Given the description of an element on the screen output the (x, y) to click on. 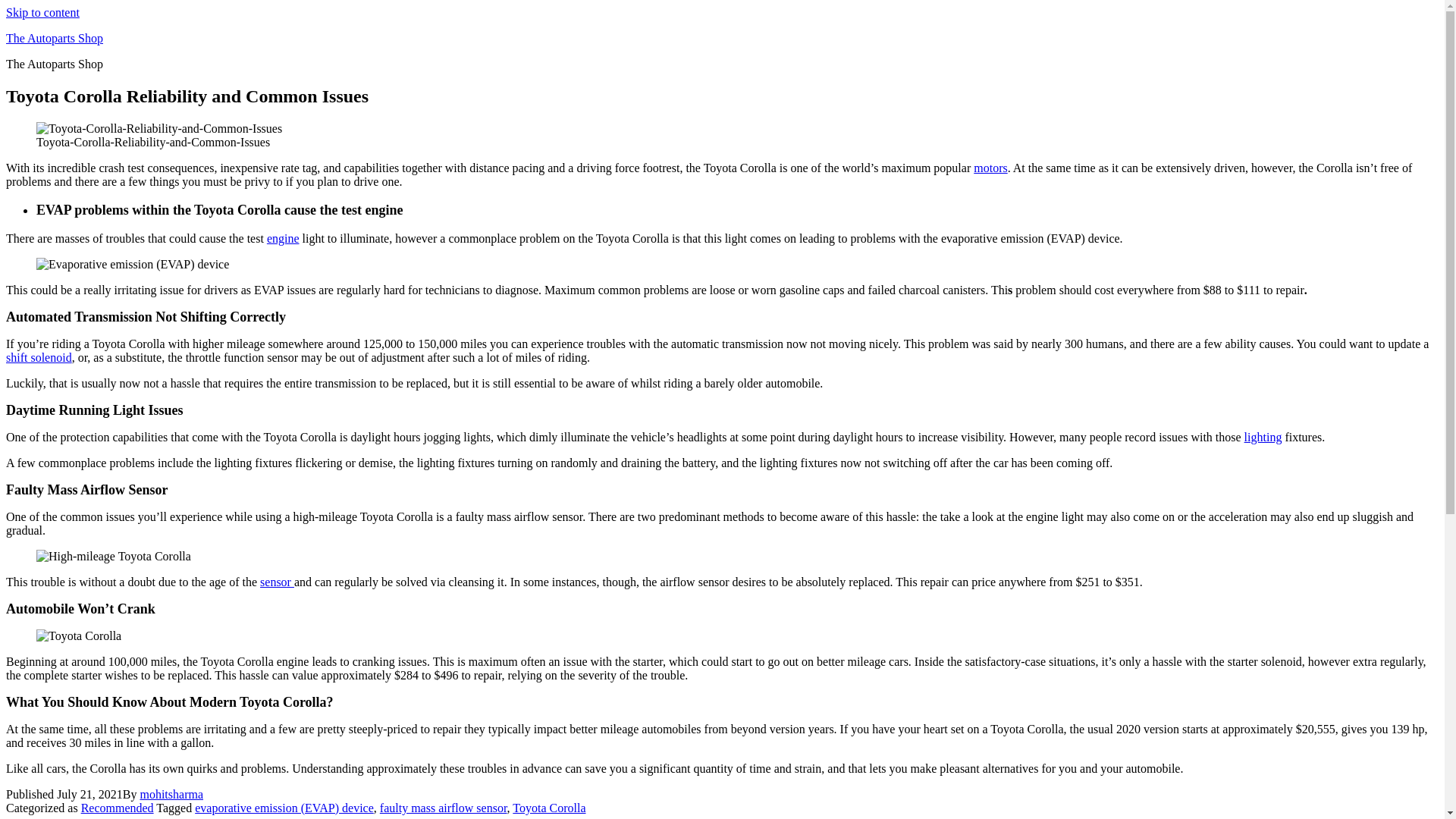
faulty mass airflow sensor (443, 807)
motors (990, 167)
Recommended (117, 807)
sensor (277, 581)
Toyota Corolla (548, 807)
lighting (1263, 436)
engine (282, 237)
shift solenoid (38, 357)
mohitsharma (171, 793)
Skip to content (42, 11)
The Autoparts Shop (54, 38)
